Given the description of an element on the screen output the (x, y) to click on. 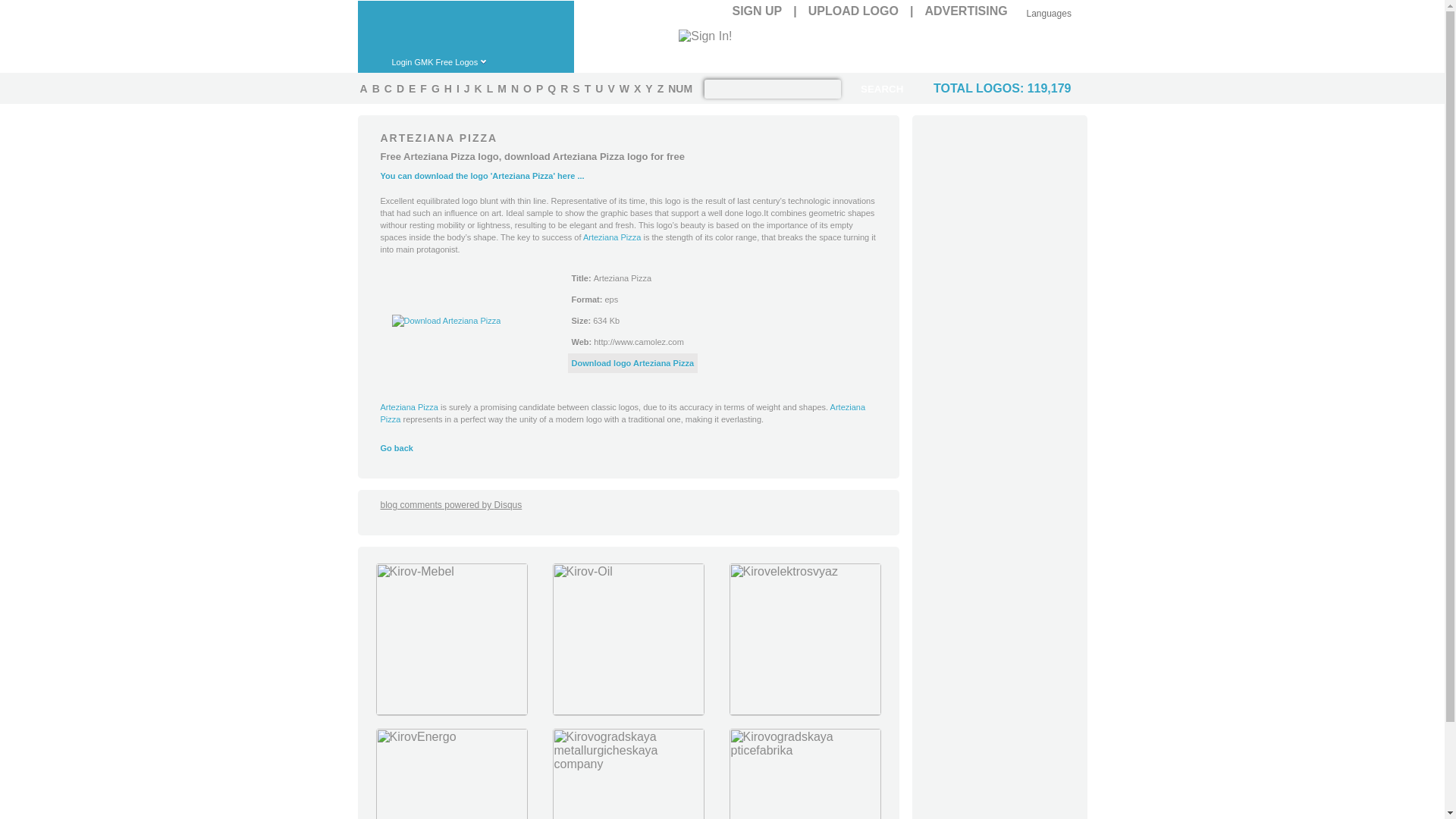
NUM (679, 88)
Arteziana Pizza (623, 413)
Login GMK Free Logos (446, 61)
UPLOAD LOGO (853, 10)
Go back (396, 447)
Download Logo Kirov-Oil (627, 711)
You can download the logo 'Arteziana Pizza' here ... (482, 175)
Download Arteziana Pizza (445, 320)
Download Logo Kirovelektrosvyaz (804, 711)
